Given the description of an element on the screen output the (x, y) to click on. 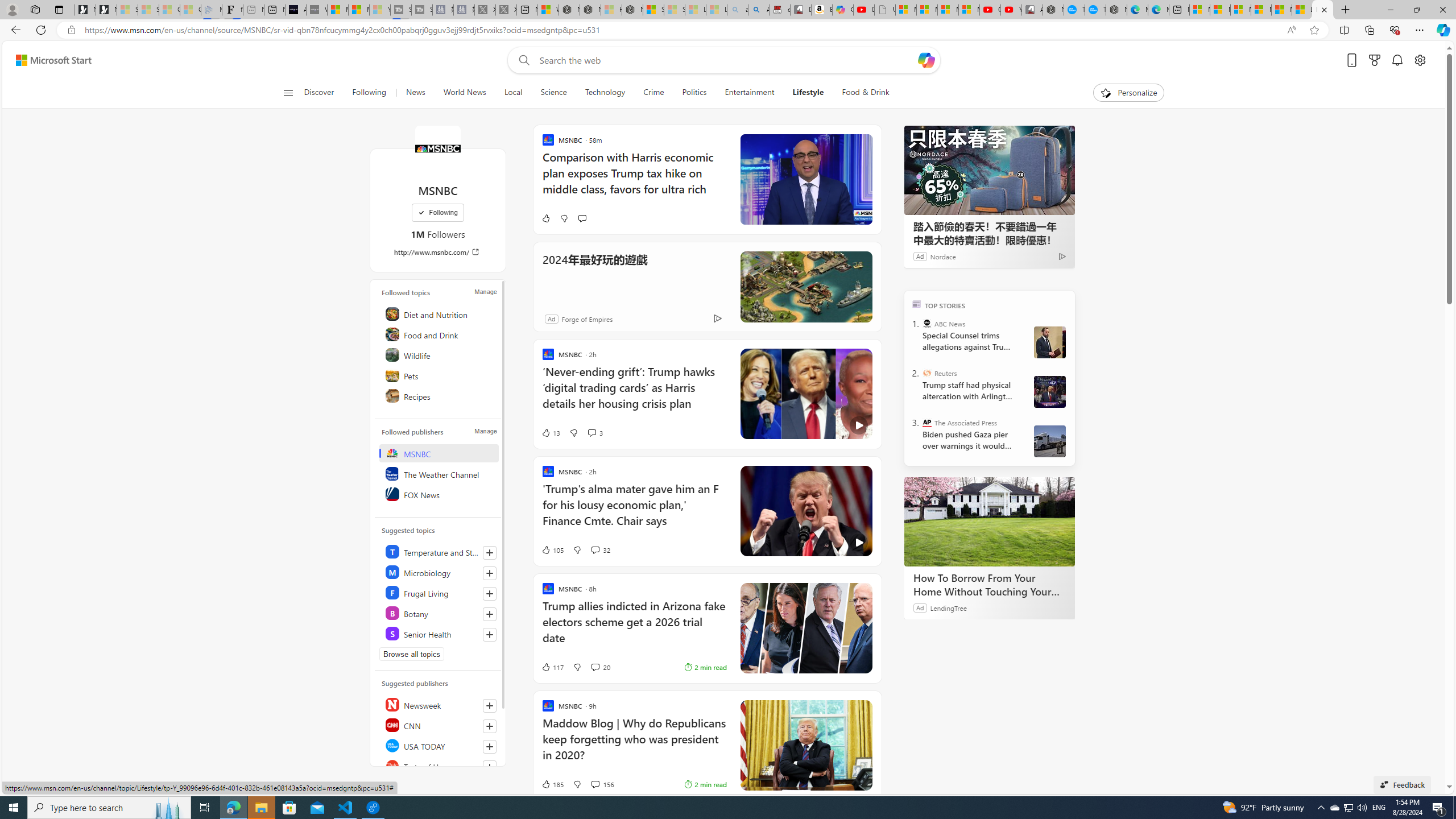
View comments 32 Comment (594, 549)
